Given the description of an element on the screen output the (x, y) to click on. 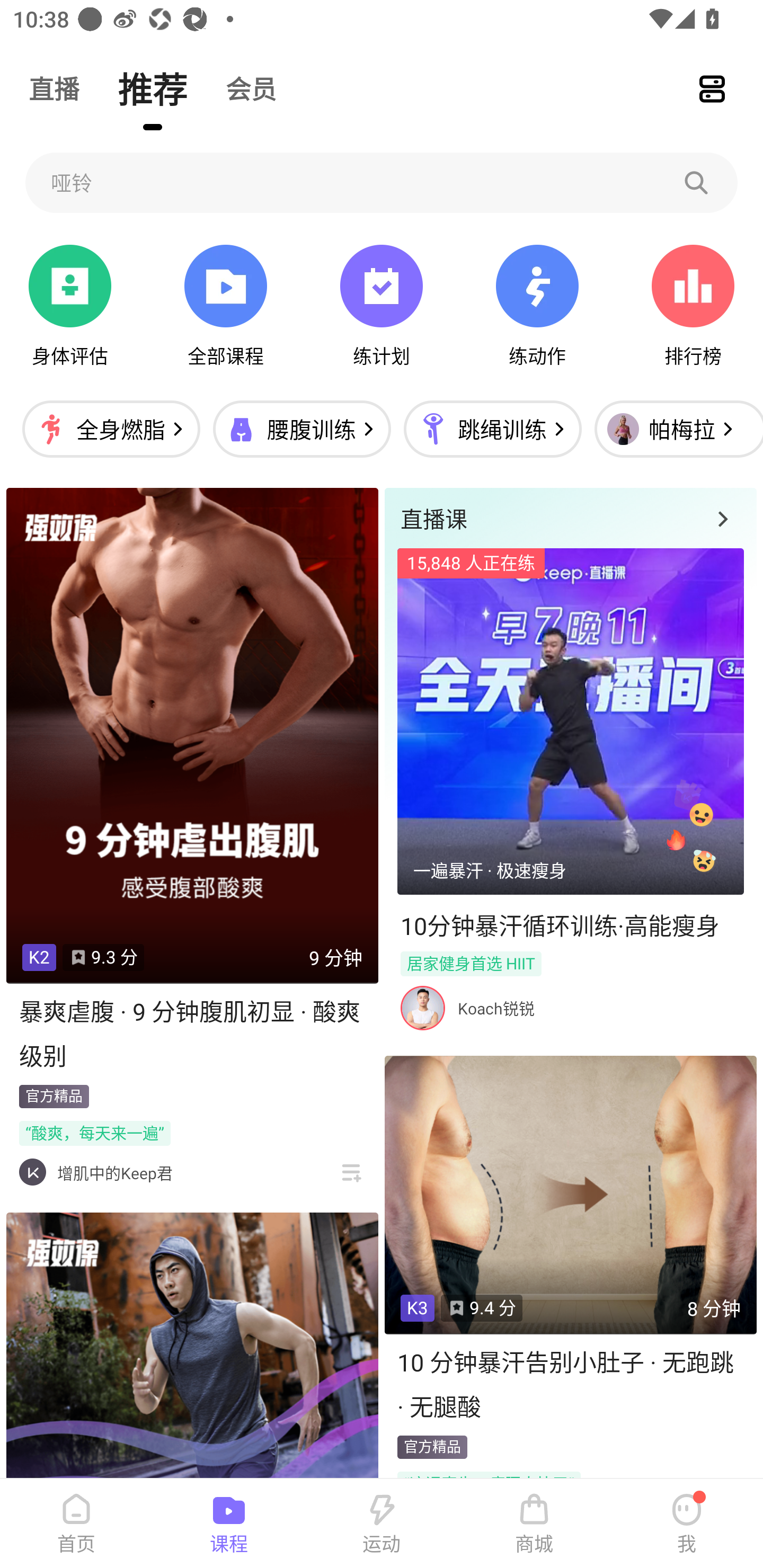
直播 (53, 88)
推荐 (152, 88)
会员 (251, 88)
哑铃 (381, 182)
身体评估 (69, 306)
全部课程 (225, 306)
练计划 (381, 306)
练动作 (537, 306)
排行榜 (692, 306)
全身燃脂 更多 (110, 428)
腰腹训练 更多 (301, 428)
跳绳训练 更多 (492, 428)
帕梅拉 更多 (673, 428)
直播课 (570, 517)
Koach锐锐 (495, 1008)
增肌中的Keep君 (114, 1172)
首页 (76, 1523)
课程 (228, 1523)
运动 (381, 1523)
商城 (533, 1523)
我 (686, 1523)
